Given the description of an element on the screen output the (x, y) to click on. 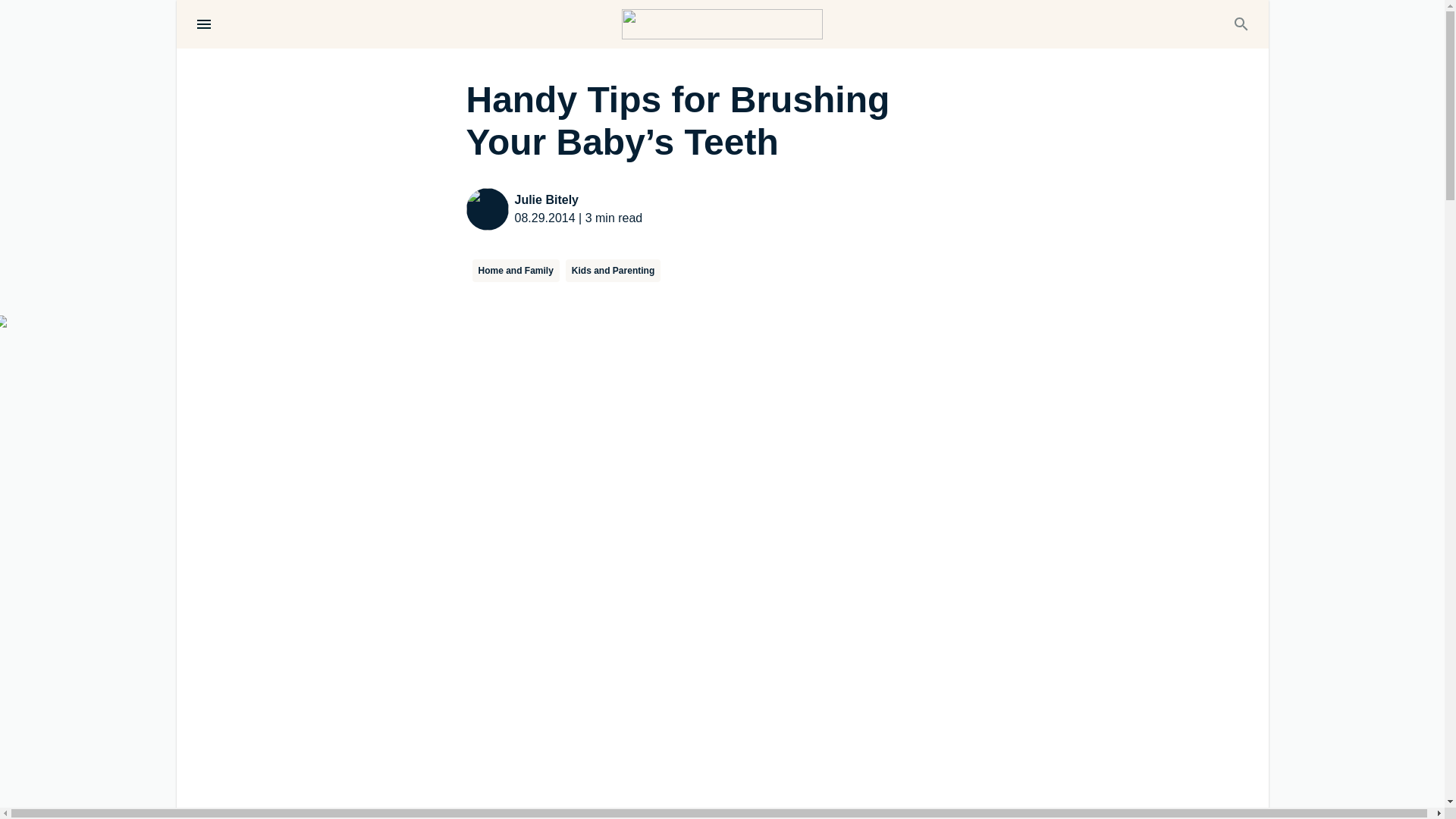
Kids and Parenting (613, 270)
Home and Family (515, 270)
Julie Bitely (577, 199)
